Given the description of an element on the screen output the (x, y) to click on. 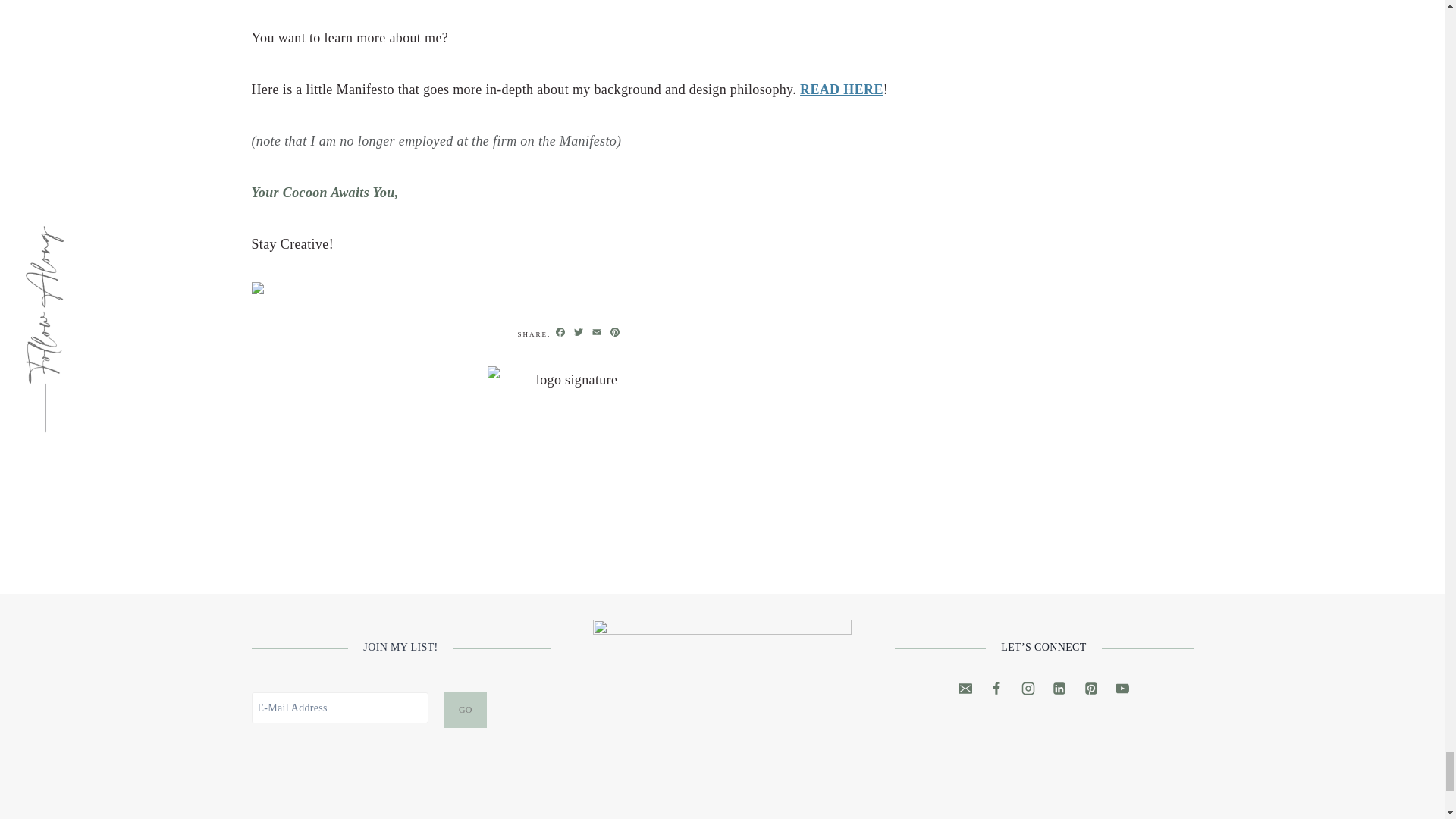
Go (465, 710)
Facebook (560, 332)
Email (596, 332)
Twitter (578, 332)
Pinterest (614, 332)
